Given the description of an element on the screen output the (x, y) to click on. 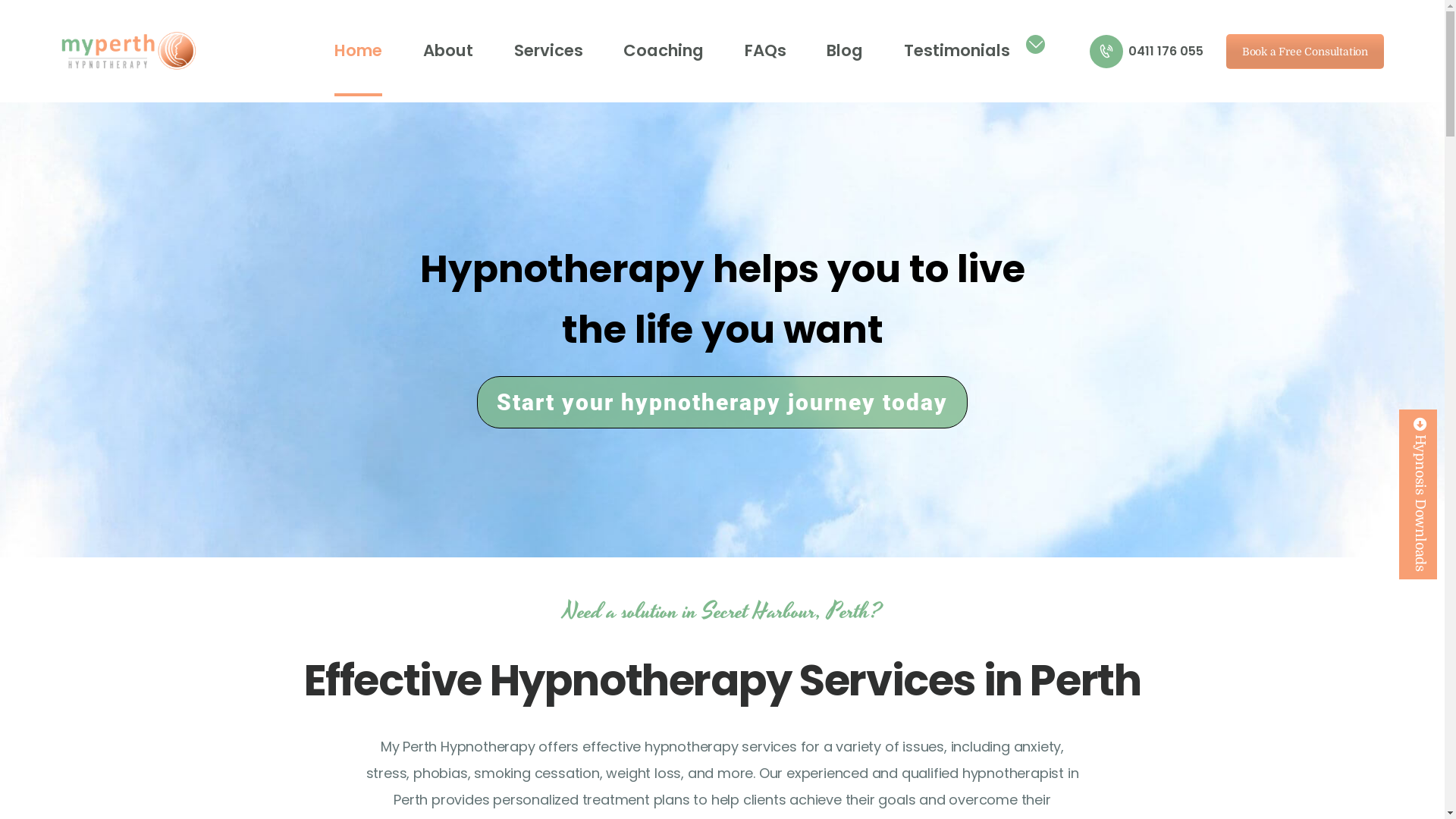
About Element type: text (448, 50)
0411 176 055 Element type: text (1146, 51)
Home Element type: text (358, 50)
Coaching Element type: text (663, 50)
FAQs Element type: text (765, 50)
Book a Free Consultation Element type: text (1304, 50)
Services Element type: text (548, 50)
Start your hypnotherapy journey today Element type: text (721, 402)
Testimonials Element type: text (956, 50)
Hypnosis Downloads Element type: text (1418, 494)
Blog Element type: text (844, 50)
